Given the description of an element on the screen output the (x, y) to click on. 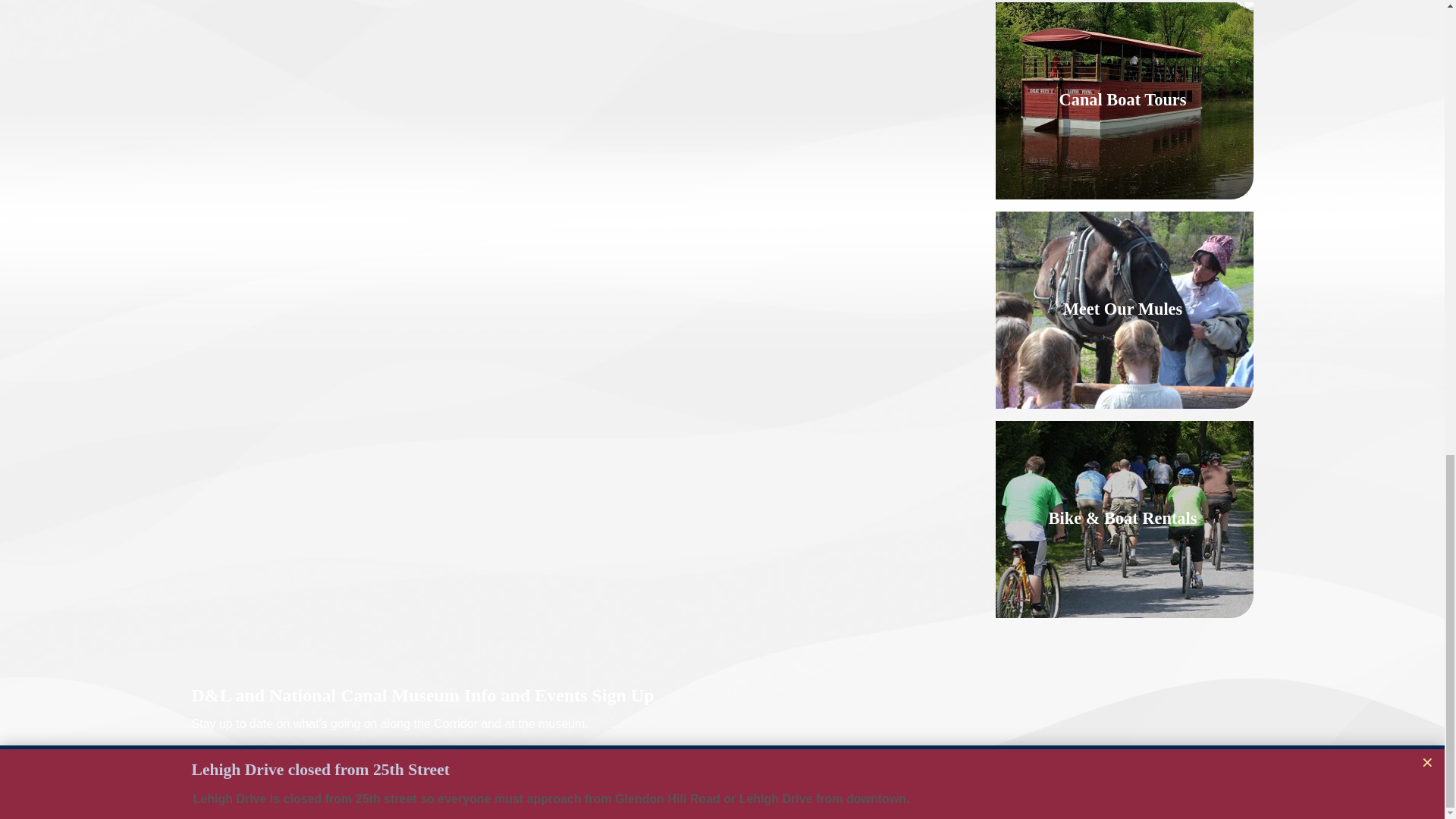
Meet Our Mules (1124, 309)
Canal Boat Tours (1124, 100)
